Given the description of an element on the screen output the (x, y) to click on. 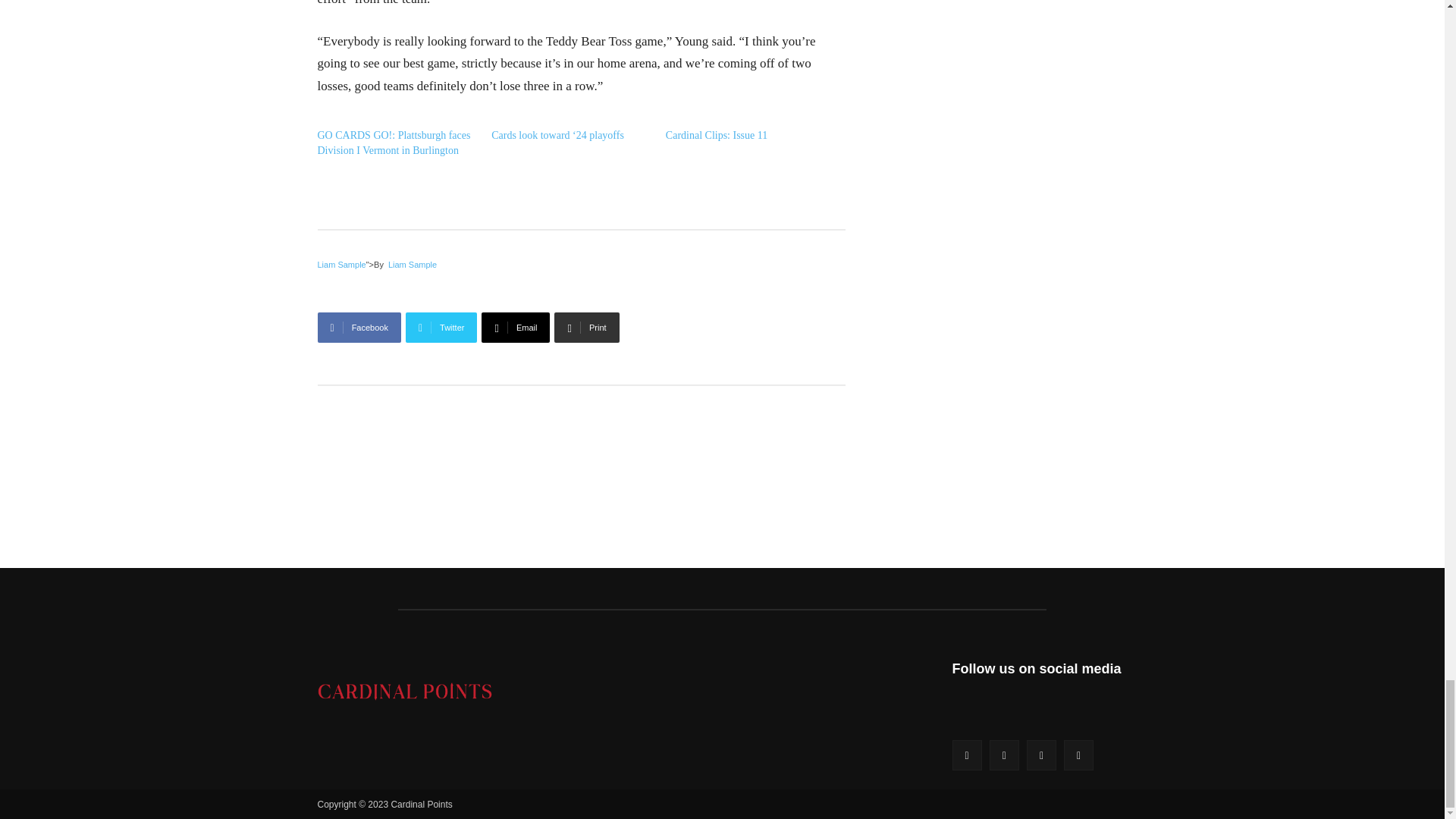
Facebook (358, 327)
Cardinal Clips: Issue 11 (716, 134)
Twitter (441, 327)
